Given the description of an element on the screen output the (x, y) to click on. 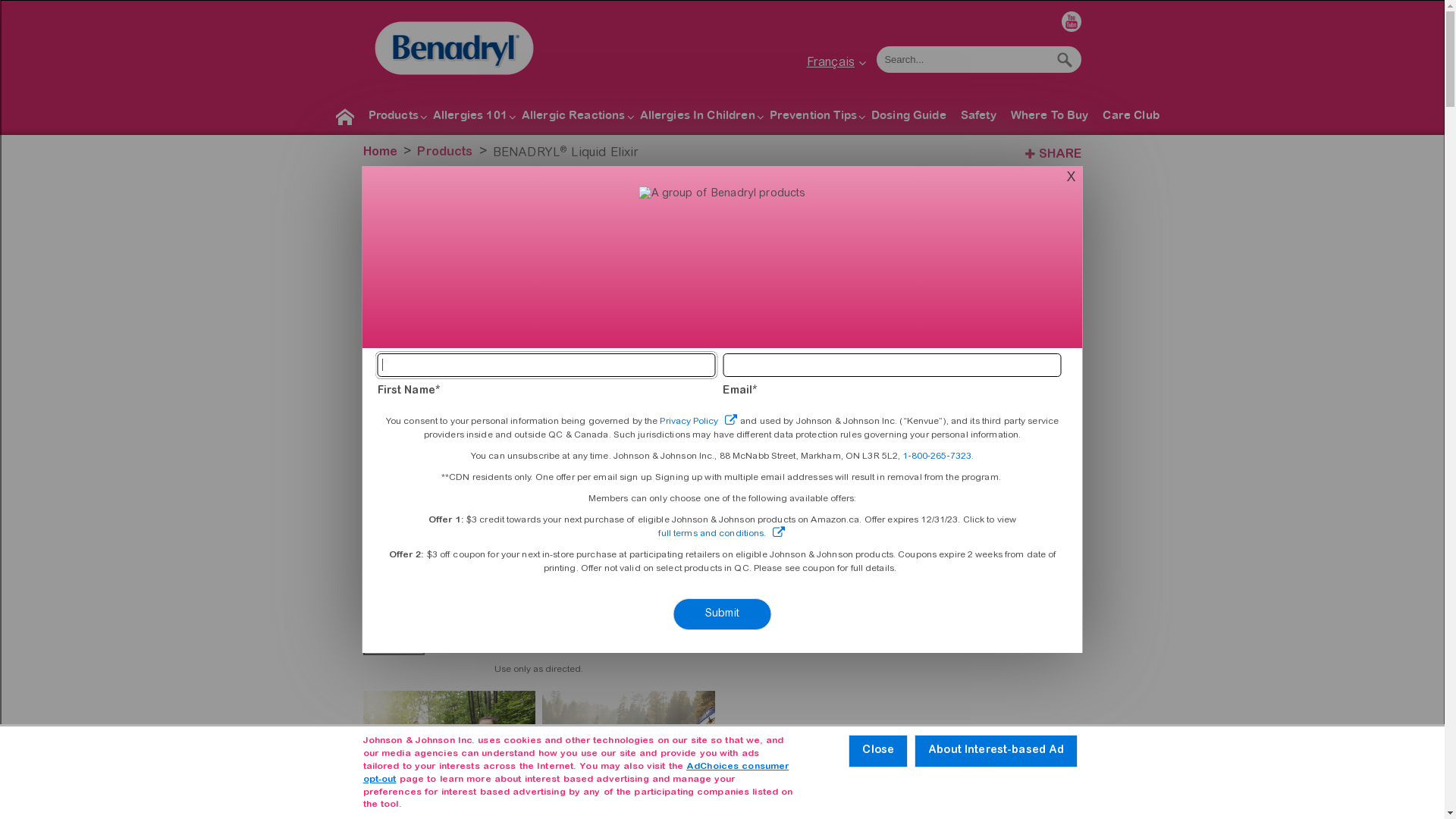
Warnings Element type: text (906, 477)
Products Element type: text (393, 117)
SHARE Element type: text (1051, 153)
Product Description Element type: text (906, 251)
Products Element type: text (444, 153)
Home Element type: text (344, 117)
Care Club Element type: text (1130, 117)
Prevention Tips Element type: text (812, 117)
Close Element type: text (877, 750)
Where To Buy Element type: text (1049, 117)
AdChoices consumer opt-out Element type: text (576, 773)
Directions Element type: text (906, 404)
Ingredients Element type: text (906, 441)
Benadryl's Allergy Medicine Liquid Elixir Drug Facts Element type: hover (609, 623)
Enter the terms you wish to search for. Element type: hover (962, 59)
Search Element type: text (1064, 59)
About Interest-based Ad Element type: text (995, 750)
X Element type: text (1071, 177)
Safety Element type: text (978, 117)
full terms and conditions.
Open link in new window Element type: text (721, 533)
Privacy Policy
Open link in new window Element type: text (698, 421)
FAQs Element type: text (906, 513)
Dosing Guide Element type: text (908, 117)
Submit Element type: text (722, 614)
Skip to main content Element type: text (51, 0)
Home Element type: text (382, 153)
Allergic Reactions Element type: text (573, 117)
Uses Element type: text (906, 368)
Allergies 101 Element type: text (470, 117)
Youtube icon Element type: hover (1071, 21)
Allergies In Children Element type: text (697, 117)
